Given the description of an element on the screen output the (x, y) to click on. 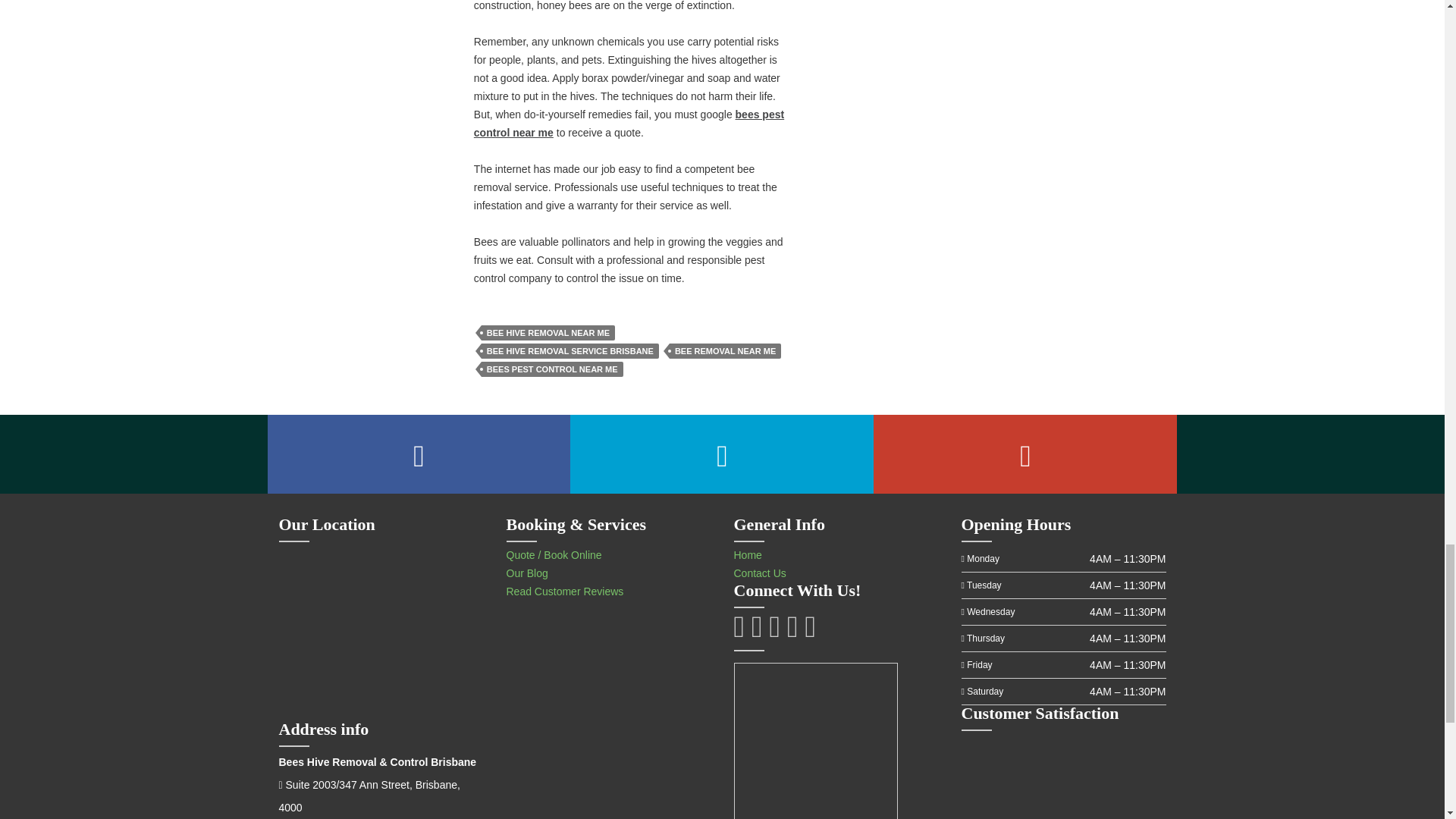
BEE HIVE REMOVAL SERVICE BRISBANE (570, 350)
BEE HIVE REMOVAL NEAR ME (547, 332)
EeoGuard five star rating (1063, 776)
bees pest control near me (629, 123)
BEES PEST CONTROL NEAR ME (552, 368)
BEE REMOVAL NEAR ME (724, 350)
